Given the description of an element on the screen output the (x, y) to click on. 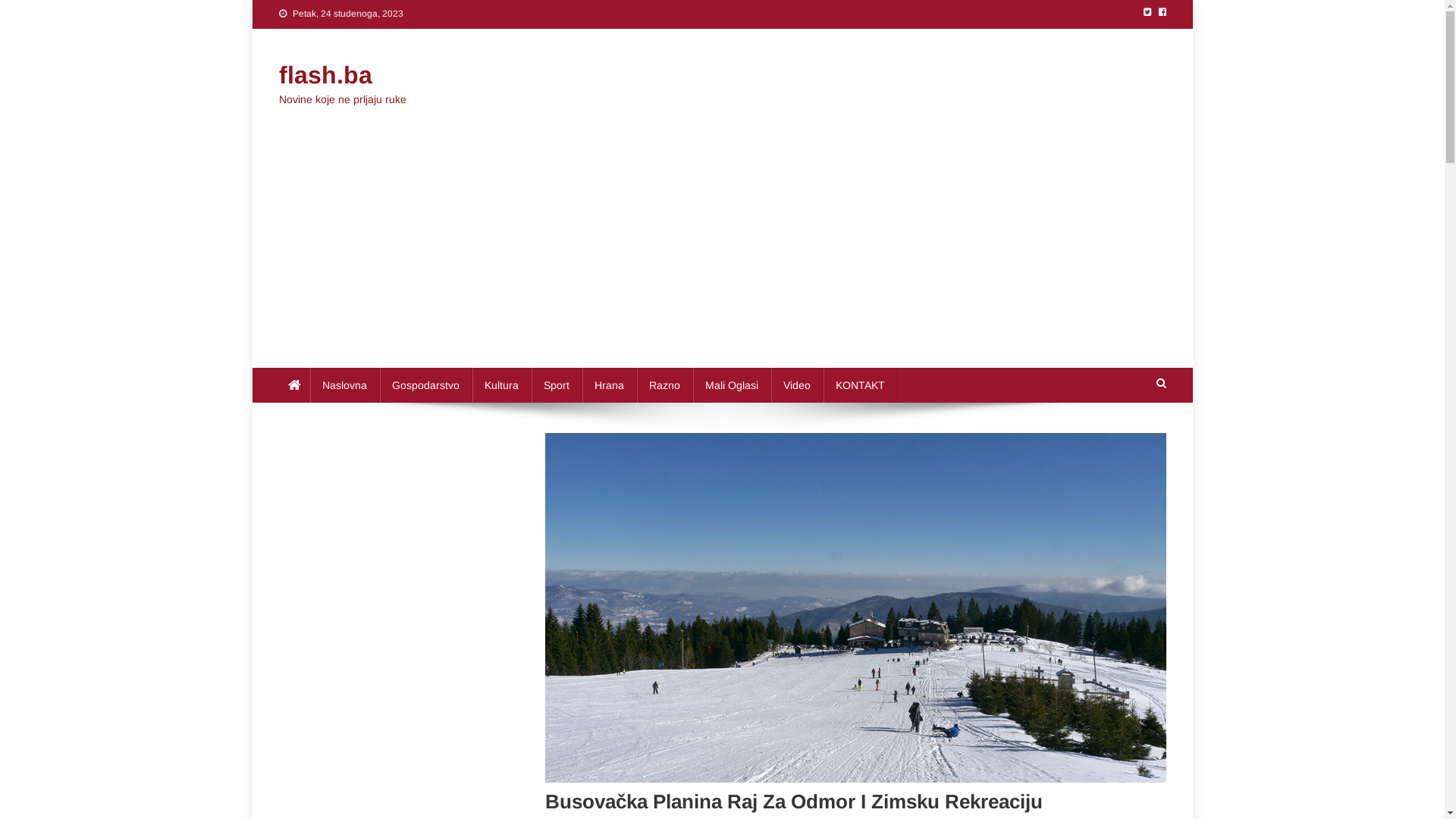
KONTAKT Element type: text (860, 384)
Video Element type: text (796, 384)
Kultura Element type: text (500, 384)
Mali Oglasi Element type: text (731, 384)
Hrana Element type: text (609, 384)
Sport Element type: text (555, 384)
Gospodarstvo Element type: text (424, 384)
Advertisement Element type: hover (721, 253)
flash.ba Element type: text (325, 74)
Razno Element type: text (664, 384)
Naslovna Element type: text (343, 384)
